Given the description of an element on the screen output the (x, y) to click on. 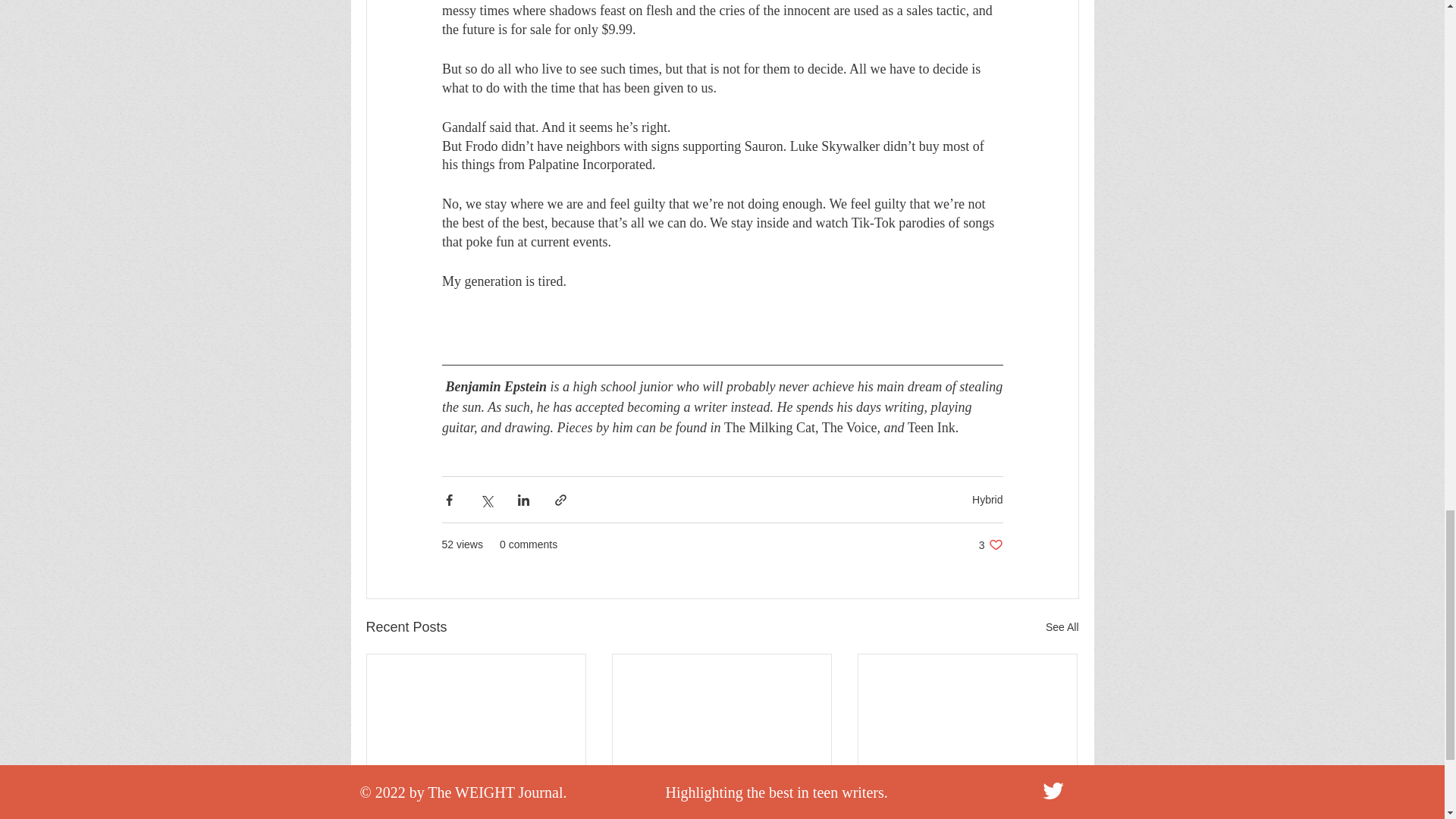
Rabbithole -- a hybrid by Adelie O. Condra (990, 544)
Back and forth -- hybrid by Medha Gadikere (476, 807)
Hybrid (721, 807)
See All (987, 499)
